Given the description of an element on the screen output the (x, y) to click on. 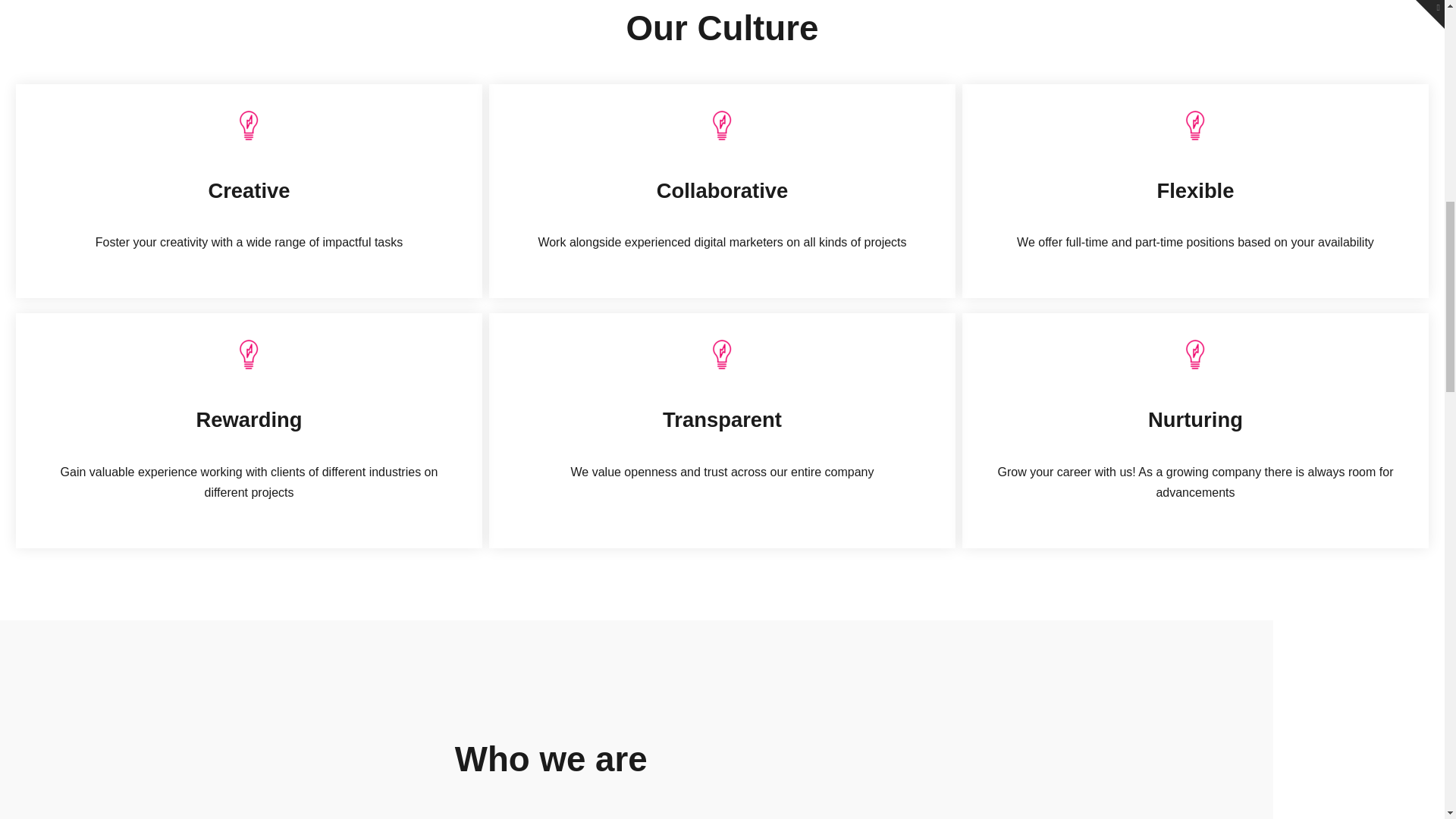
graphic design icon (721, 354)
graphic design icon (1194, 354)
graphic design icon (721, 125)
graphic design icon (1194, 125)
graphic design icon (247, 125)
graphic design icon (247, 354)
